Given the description of an element on the screen output the (x, y) to click on. 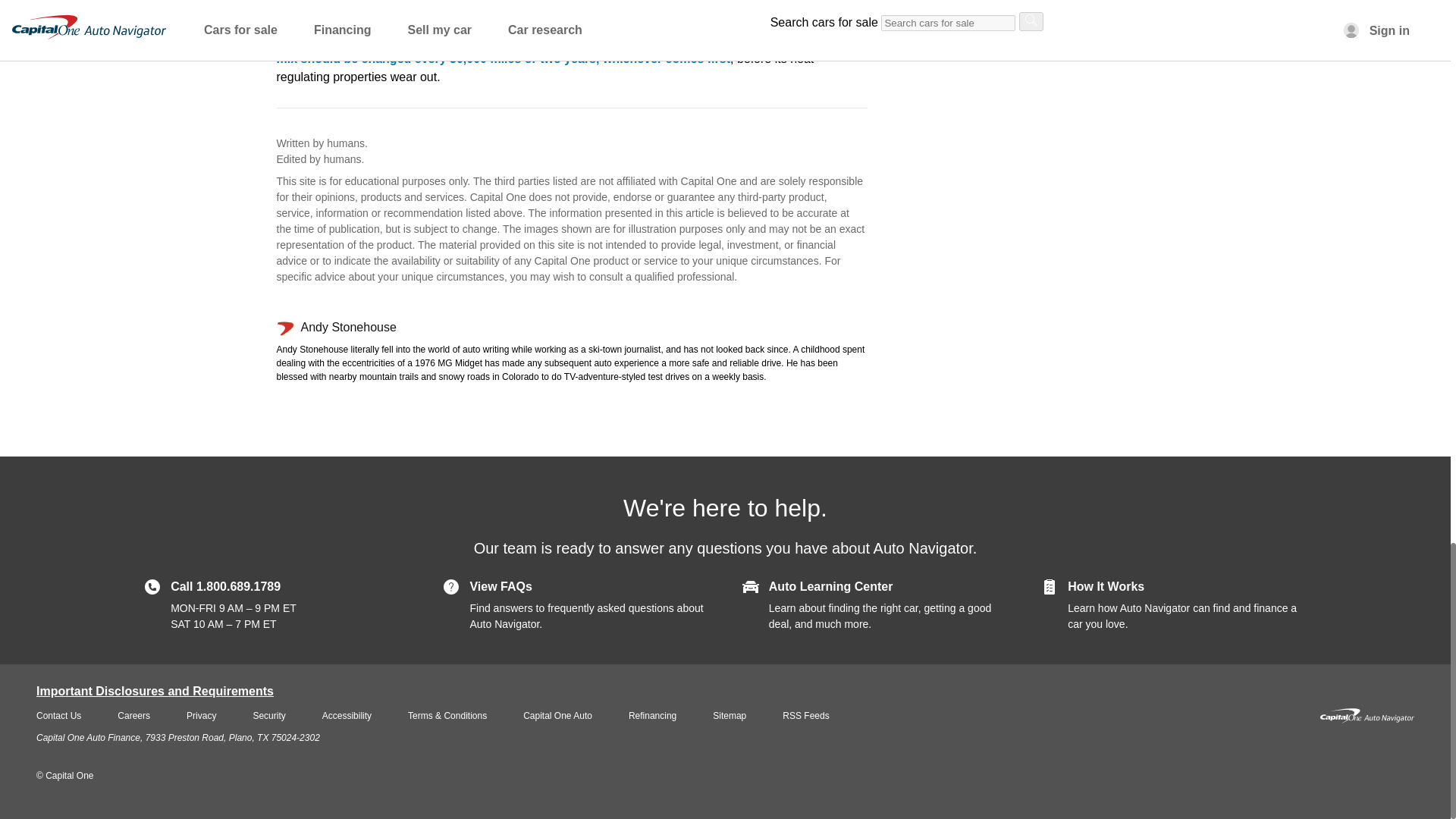
Careers (133, 716)
Capital One Auto Refinancing (652, 716)
View Disclosures (154, 690)
View Auto Learning Center (830, 585)
View FAQs (499, 585)
Capital One Auto (557, 716)
Call 1.800.689.1789 (225, 585)
View How It Works Video (1105, 585)
Sitemap (729, 716)
View FAQs (499, 585)
Questions? Call us at 1.800.689.1789. (225, 585)
View Capital One Auto Navigator (1366, 716)
Contact Us (58, 716)
Terms and Conditions (446, 716)
